Given the description of an element on the screen output the (x, y) to click on. 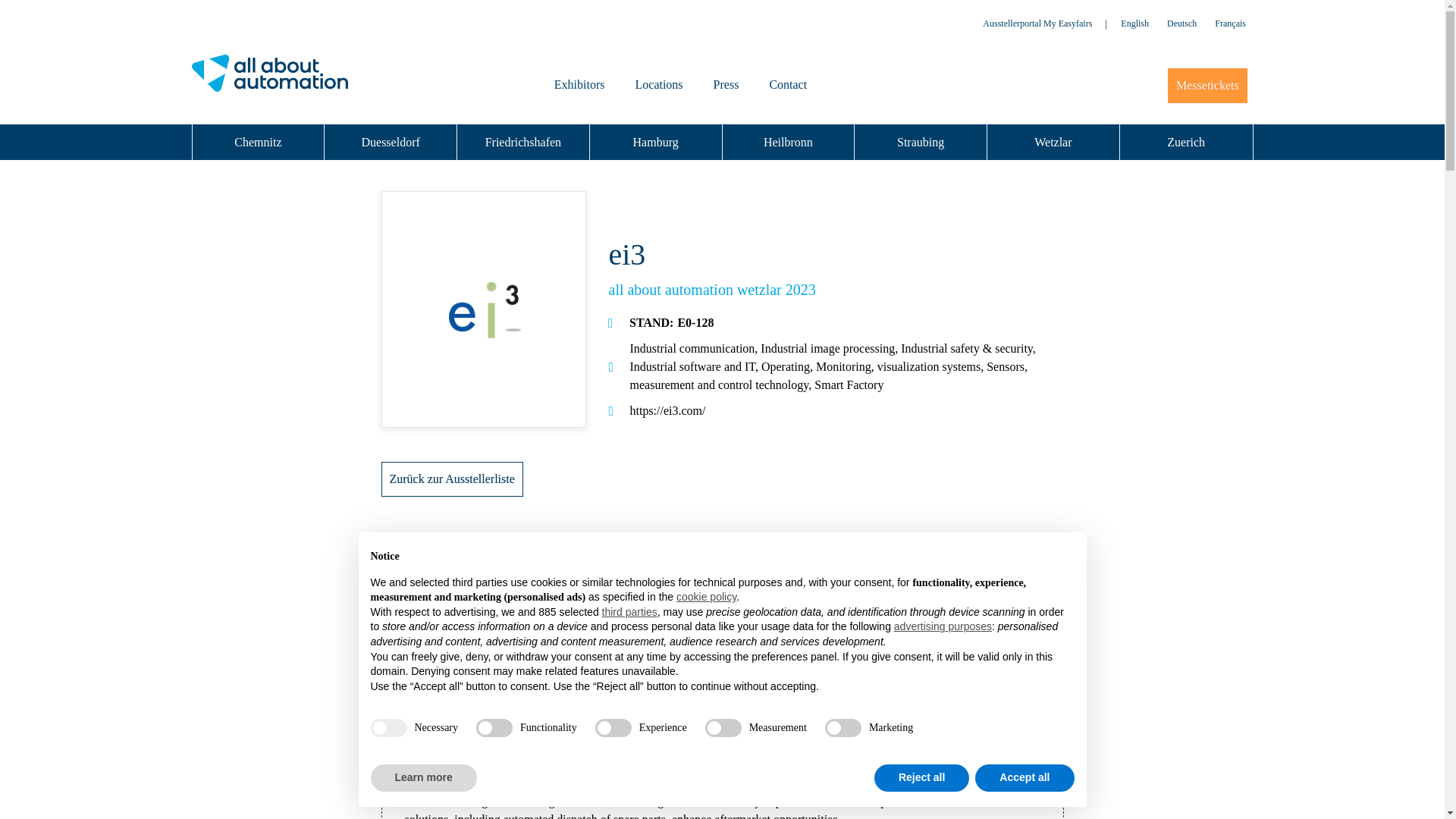
English (1134, 23)
Press (726, 85)
Ausstellerportal My Easyfairs (1037, 23)
false (613, 728)
Locations (659, 85)
false (494, 728)
false (722, 728)
Chemnitz (258, 141)
false (843, 728)
Deutsch (1181, 23)
